Given the description of an element on the screen output the (x, y) to click on. 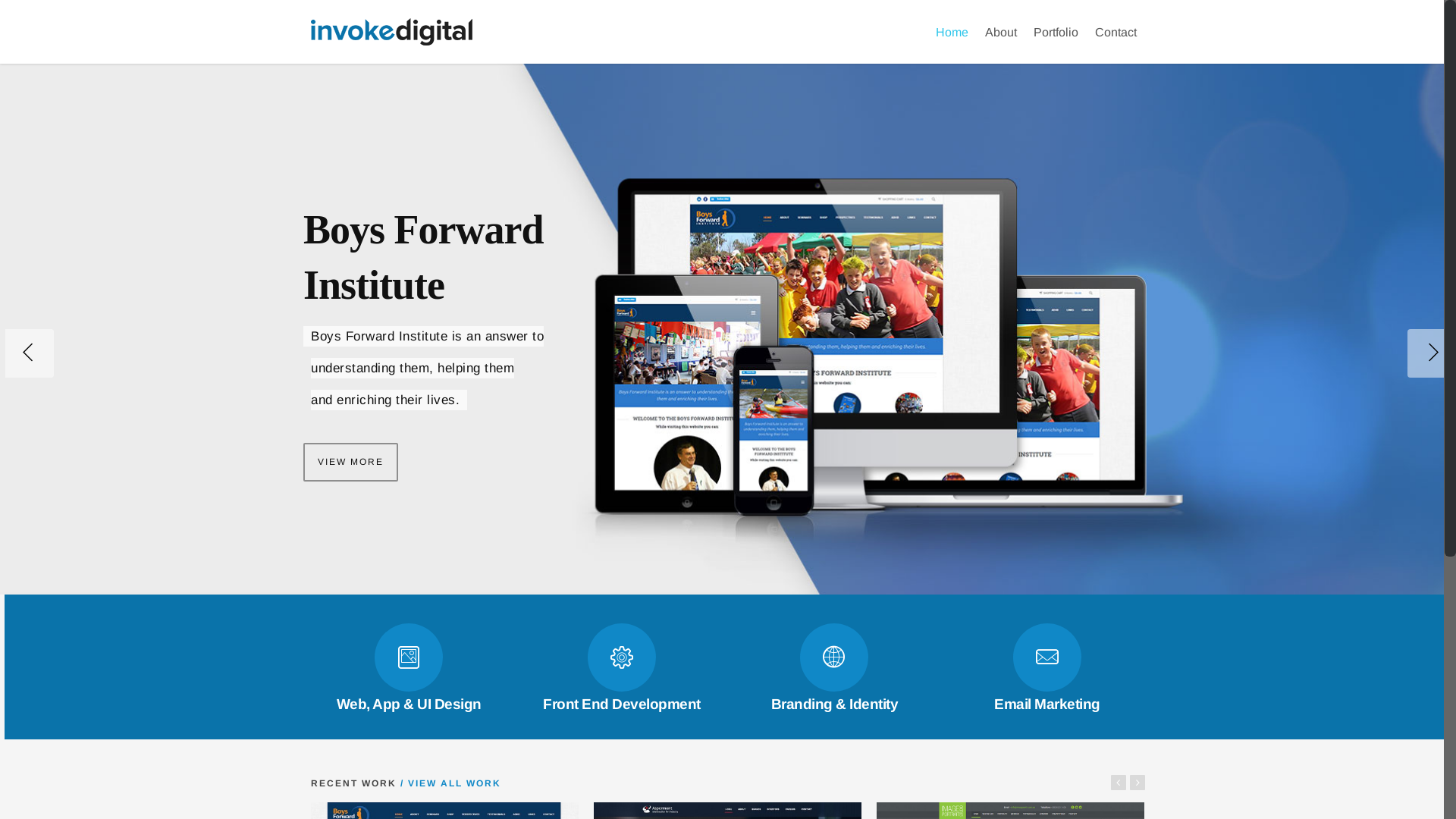
About Element type: text (1000, 40)
/ VIEW ALL WORK Element type: text (448, 783)
Home Element type: text (951, 40)
Contact Element type: text (1115, 40)
Portfolio Element type: text (1055, 40)
VIEW MORE Element type: text (350, 469)
